Given the description of an element on the screen output the (x, y) to click on. 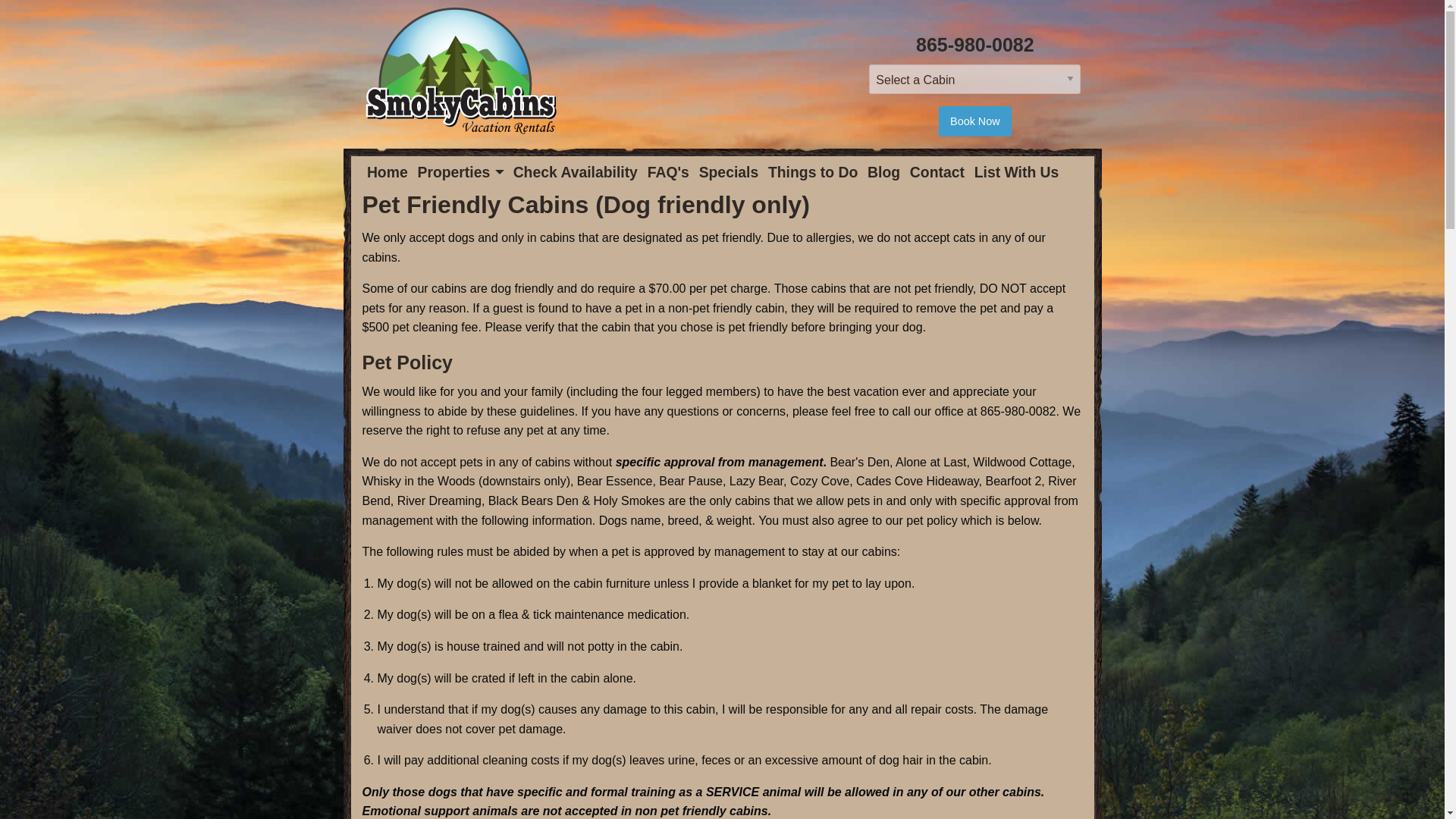
Book Now (975, 121)
List With Us (1015, 172)
FAQ's (668, 172)
Blog (884, 172)
Contact (936, 172)
Things to Do (812, 172)
Properties (460, 172)
Check Availability (575, 172)
Specials (728, 172)
Home (387, 172)
